Given the description of an element on the screen output the (x, y) to click on. 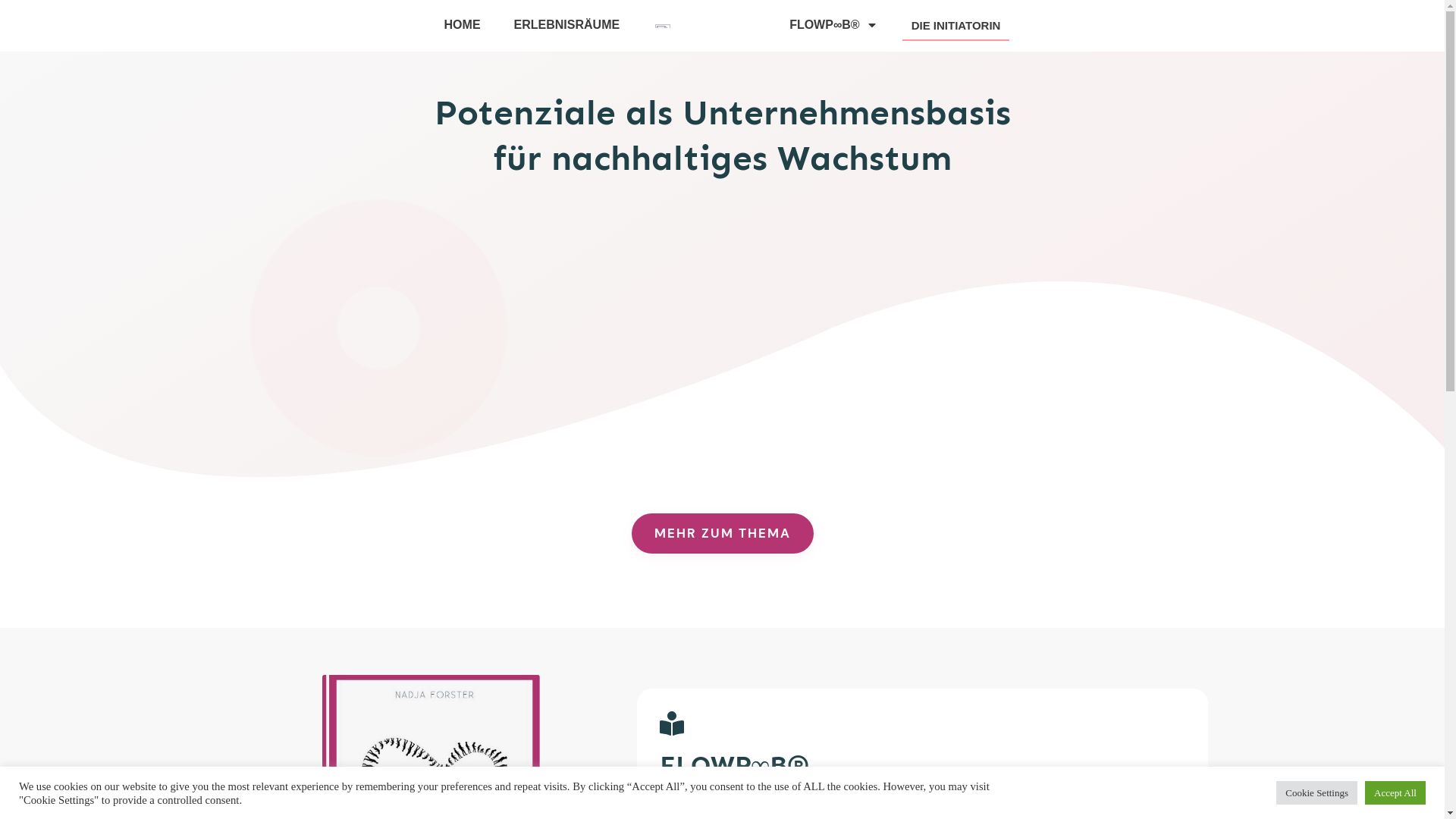
DIE INITIATORIN Element type: text (956, 25)
Accept All Element type: text (1395, 792)
HOME Element type: text (462, 24)
Responsive Video Element type: hover (722, 306)
Cookie Settings Element type: text (1316, 792)
MEHR ZUM THEMA Element type: text (721, 533)
